Given the description of an element on the screen output the (x, y) to click on. 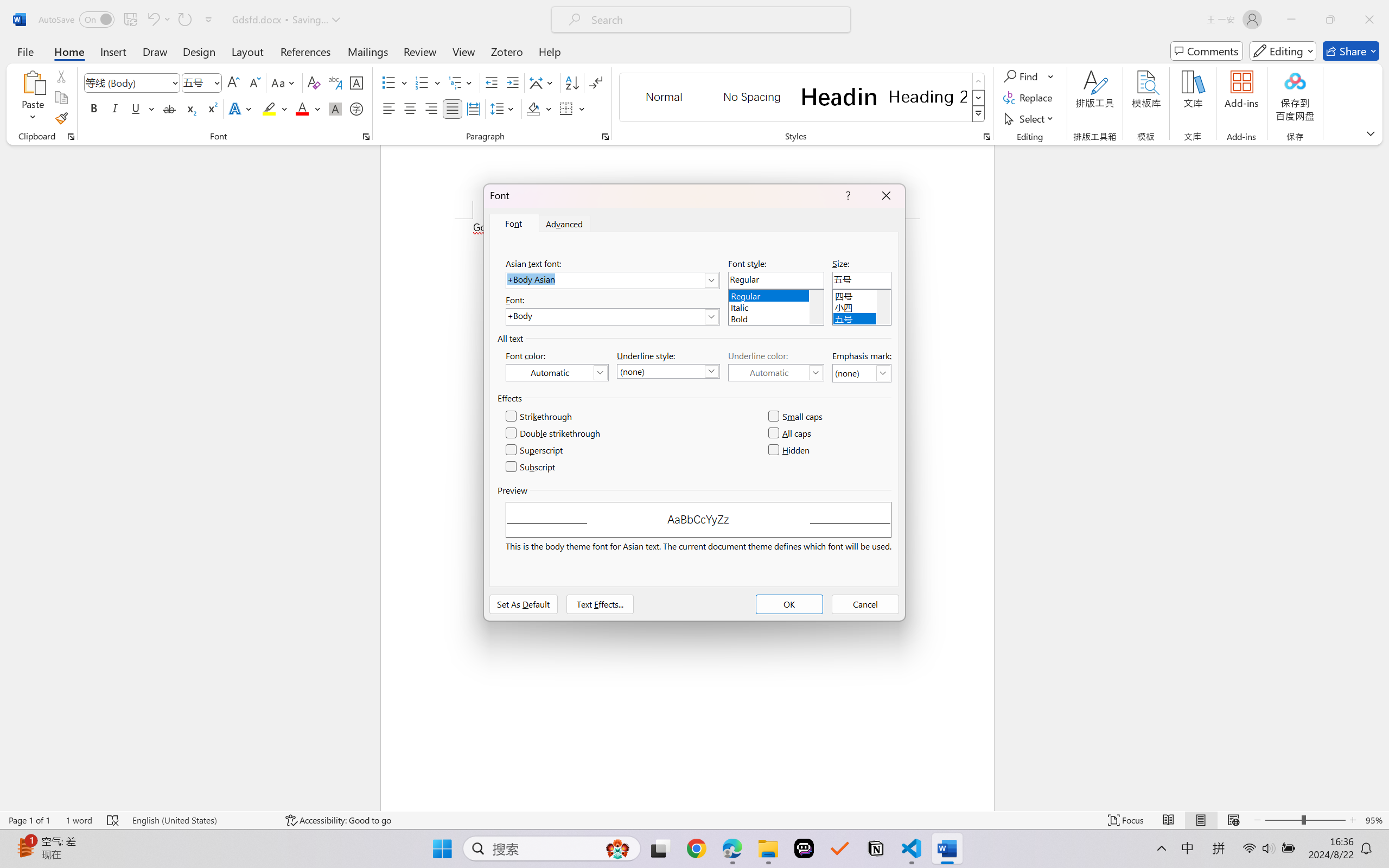
AutomationID: QuickStylesGallery (802, 97)
Decrease Indent (491, 82)
Repeat Style (184, 19)
Line and Paragraph Spacing (503, 108)
Copy (60, 97)
Text Highlight Color Yellow (269, 108)
Microsoft search (715, 19)
